Given the description of an element on the screen output the (x, y) to click on. 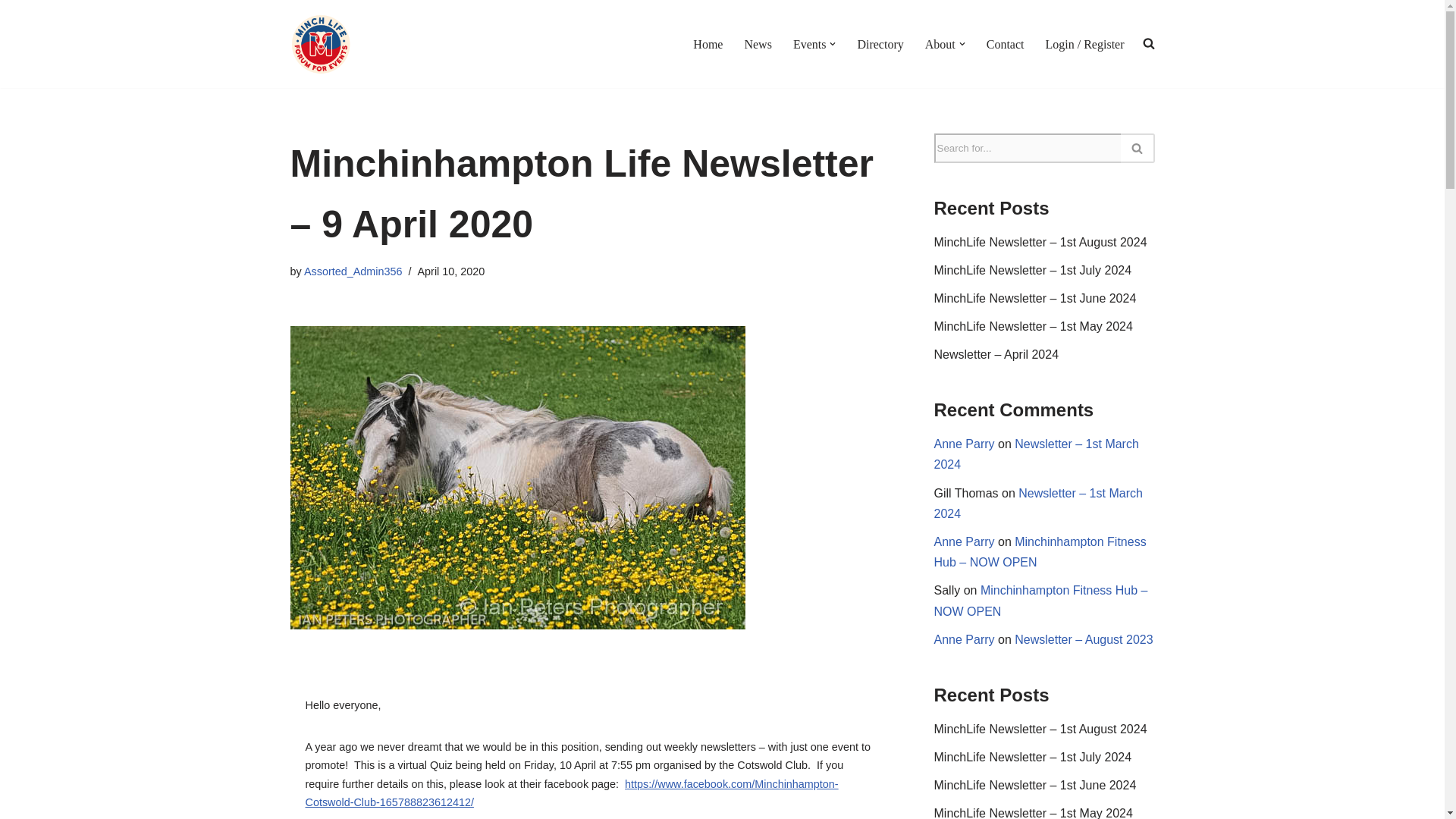
Contact (1006, 44)
News (757, 44)
Home (707, 44)
About (939, 44)
Events (810, 44)
Skip to content (11, 31)
Directory (879, 44)
